Given the description of an element on the screen output the (x, y) to click on. 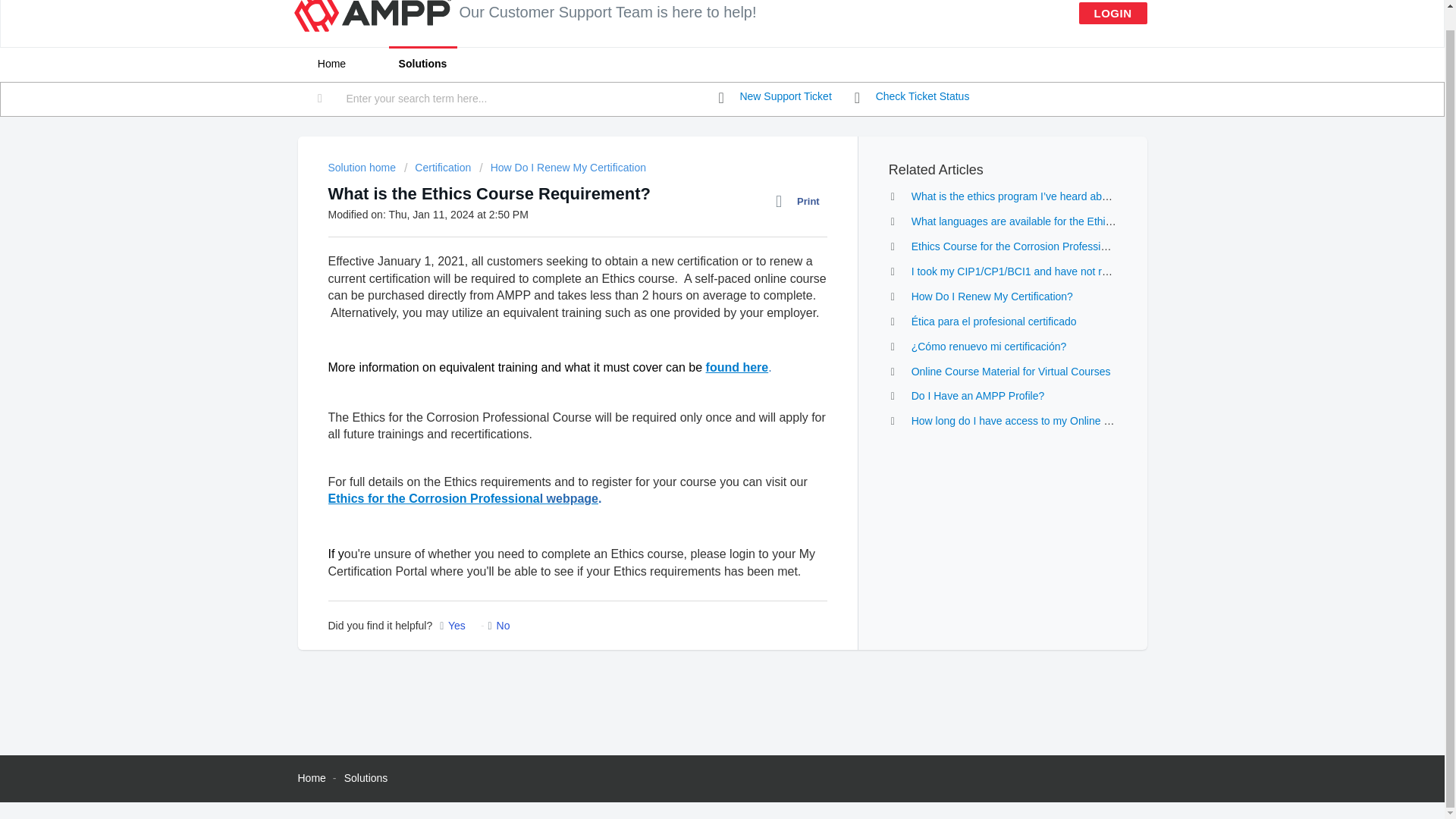
How Do I Renew My Certification? (992, 296)
Certification (437, 167)
Print (801, 201)
How Do I Renew My Certification (562, 167)
Check Ticket Status (911, 96)
New Support Ticket (775, 96)
Solution home (362, 167)
What languages are available for the Ethic Course? (1032, 221)
How long do I have access to my Online Course Material? (1048, 420)
Online Course Material for Virtual Courses (1010, 371)
Solutions (422, 63)
Home (331, 63)
LOGIN (1112, 13)
Home (310, 777)
Ethics Course for the Corrosion Professional eCourse access (1055, 246)
